Given the description of an element on the screen output the (x, y) to click on. 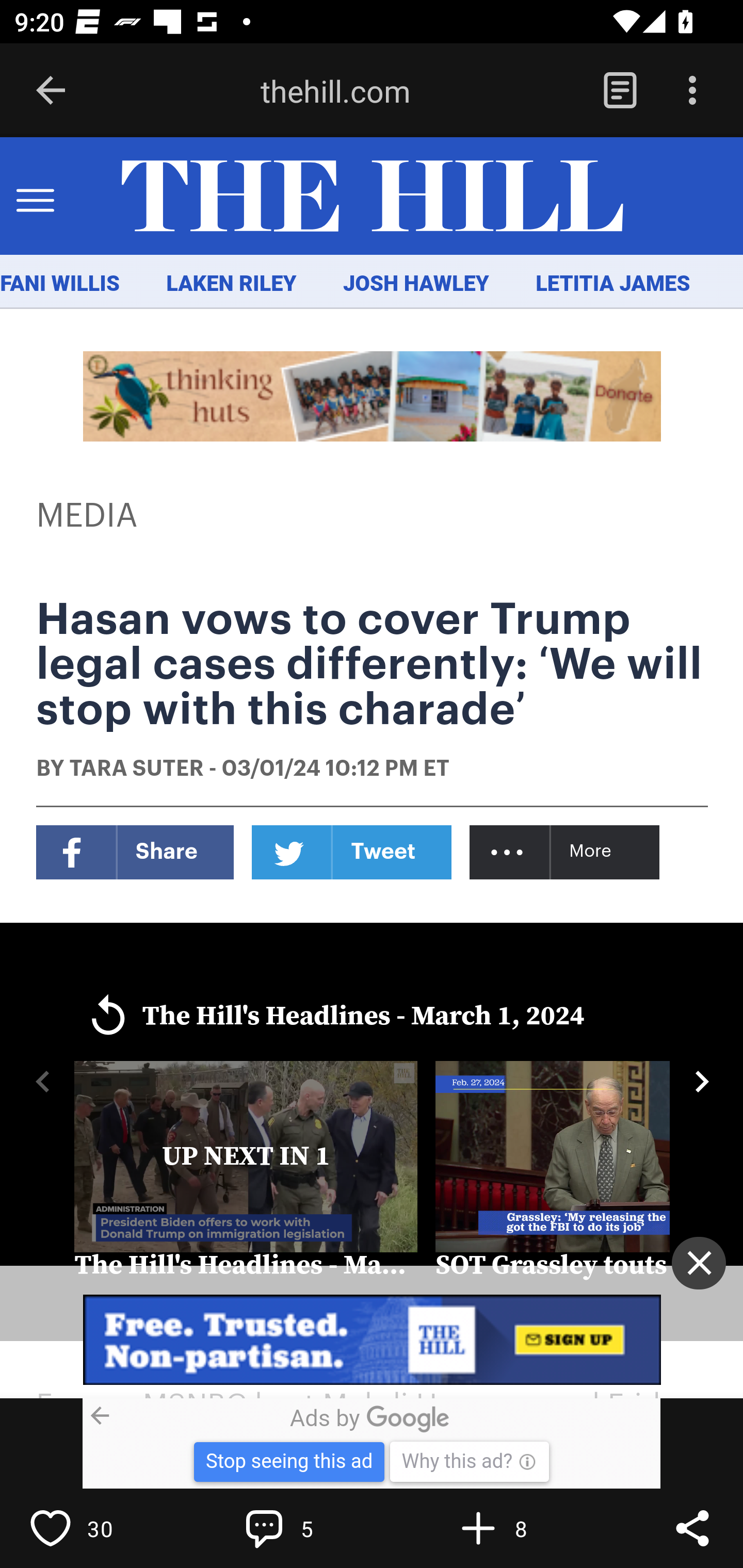
Back (50, 90)
Reader View (619, 90)
Options (692, 90)
Toggle Menu (34, 196)
TheHill.com (371, 196)
FANI WILLIS (60, 284)
LAKEN RILEY (231, 284)
JOSH HAWLEY (414, 284)
LETITIA JAMES (612, 284)
Advertisement (372, 395)
MEDIA (87, 516)
TARA SUTER (135, 769)
Facebook Share Facebook Share (135, 852)
Twitter Tweet Twitter Tweet (352, 852)
... More (565, 852)
✕ (699, 1262)
signup (372, 1339)
Like 30 (93, 1528)
Write a comment… 5 (307, 1528)
Flip into Magazine 8 (521, 1528)
Share (692, 1528)
